Given the description of an element on the screen output the (x, y) to click on. 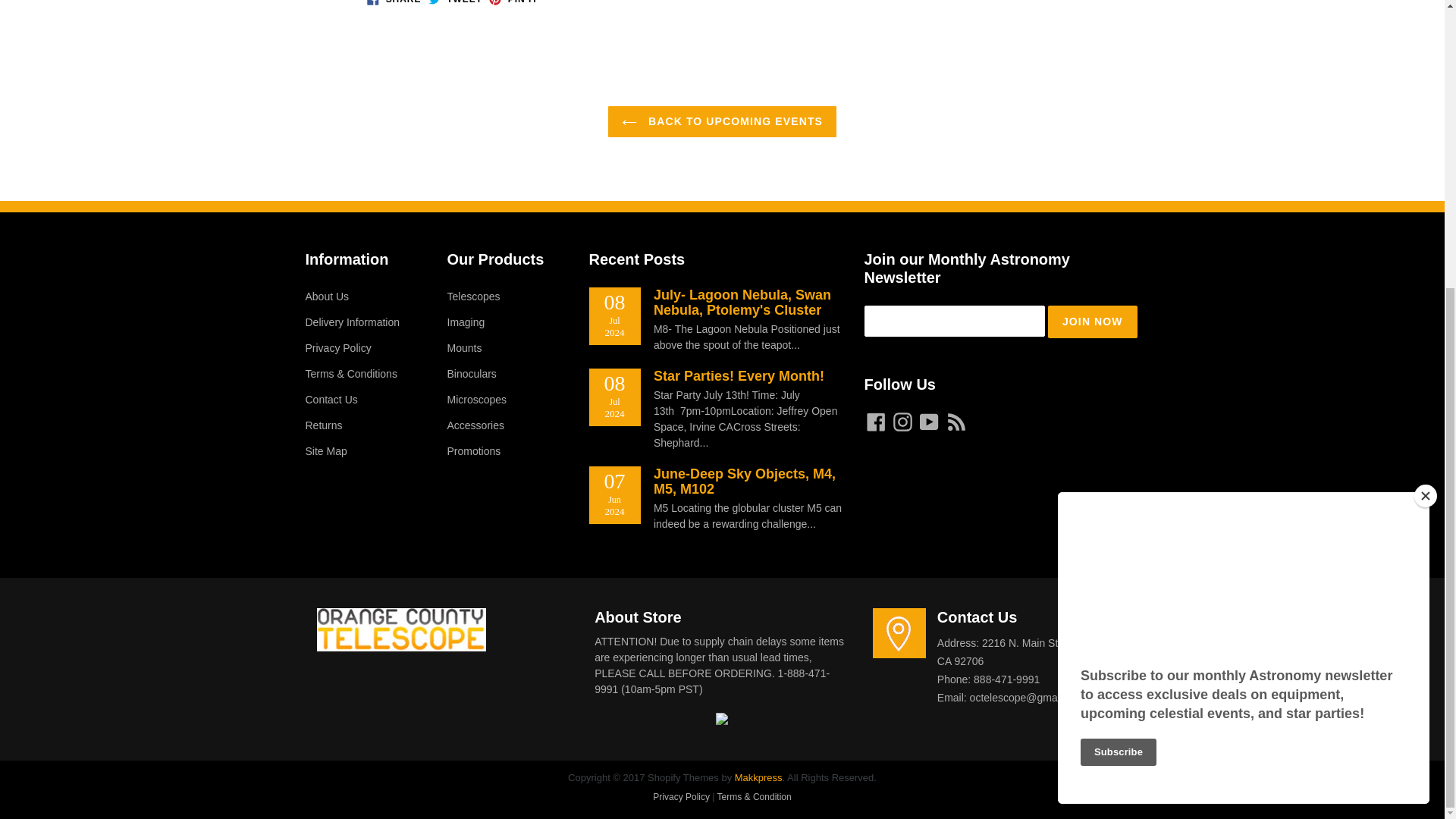
Tweet on Twitter (454, 2)
oc telescope on YouTube (928, 421)
Pin on Pinterest (513, 2)
oc telescope on Facebook (876, 421)
oc telescope on Instagram (902, 421)
Share on Facebook (393, 2)
